Given the description of an element on the screen output the (x, y) to click on. 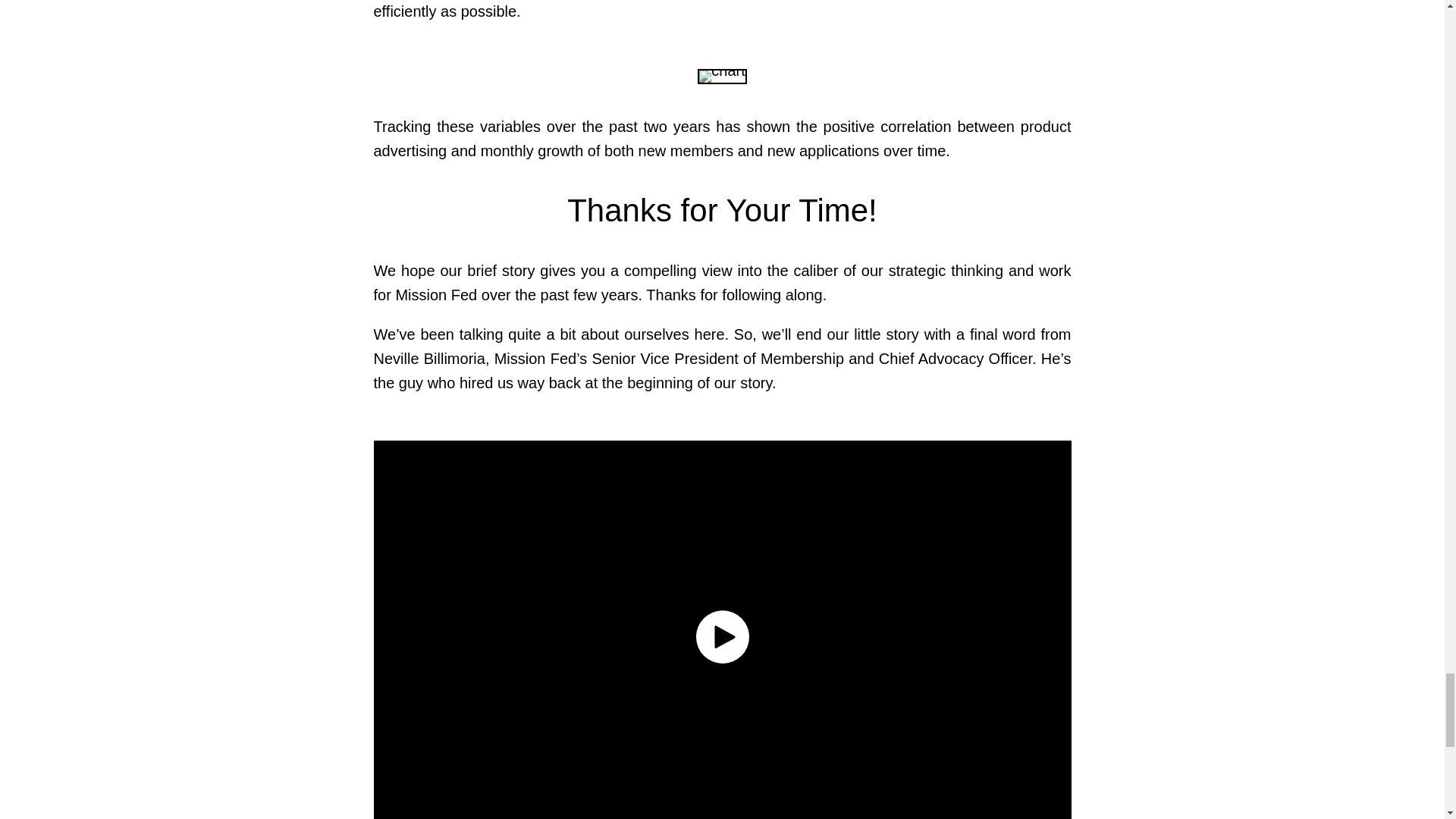
chart (721, 76)
